Given the description of an element on the screen output the (x, y) to click on. 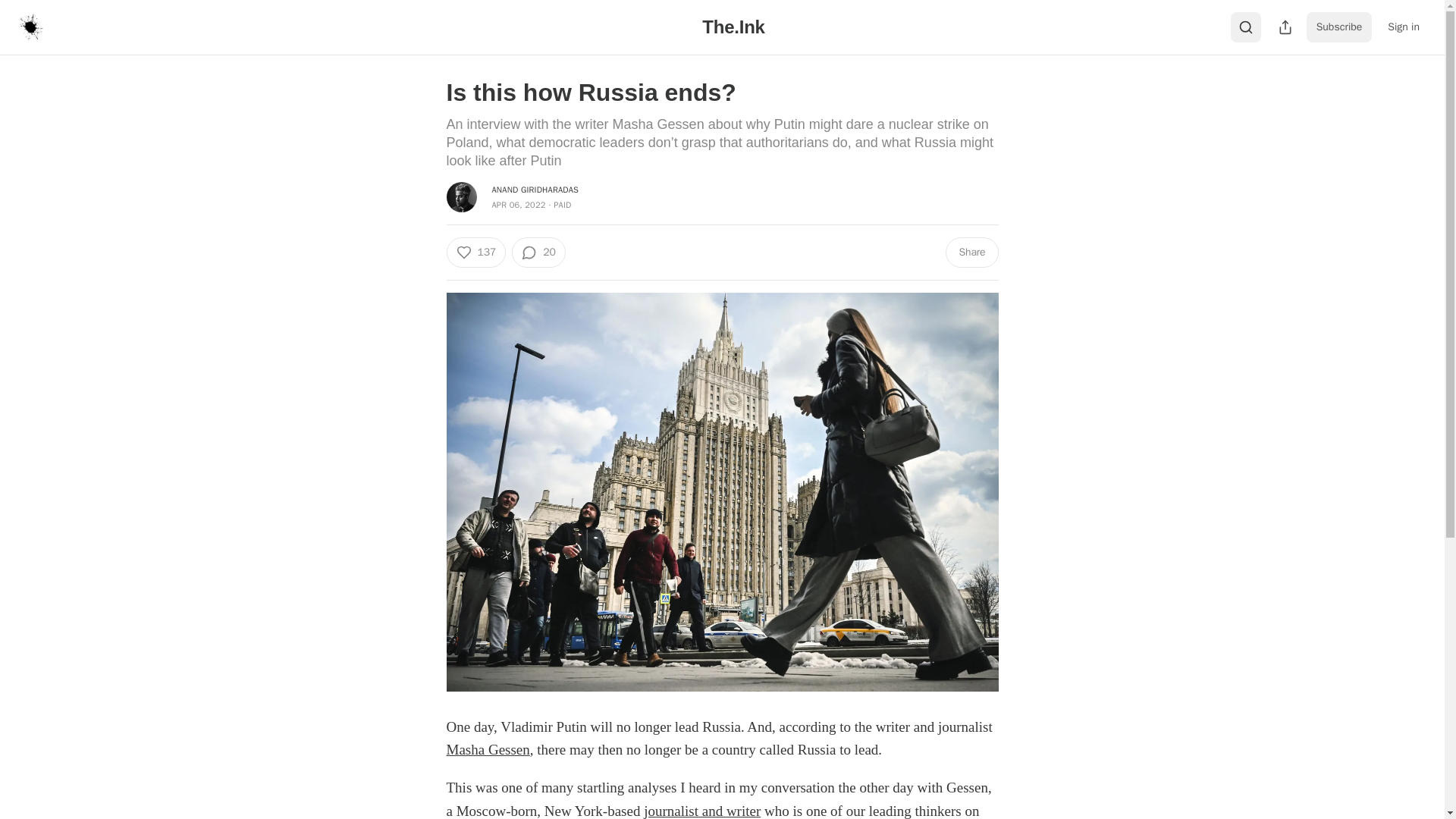
20 (539, 252)
137 (475, 252)
Masha Gessen (487, 749)
The.Ink (732, 26)
Sign in (1403, 27)
journalist and writer (701, 811)
ANAND GIRIDHARADAS (535, 189)
Subscribe (1339, 27)
Share (970, 252)
